Given the description of an element on the screen output the (x, y) to click on. 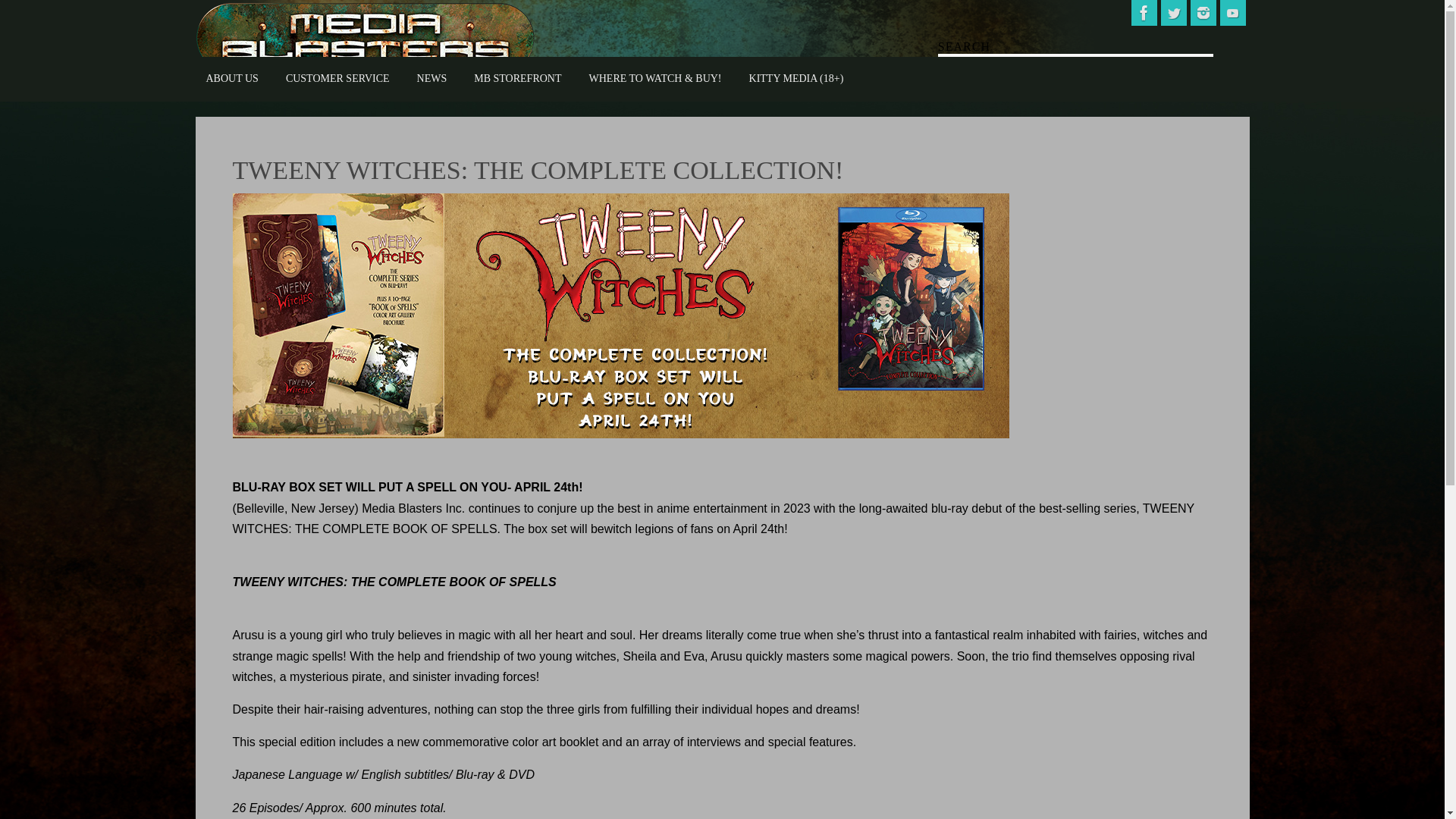
CUSTOMER SERVICE (337, 78)
NEWS (432, 78)
Media Blasters (365, 38)
MB STOREFRONT (517, 78)
Instagram (1203, 12)
Twitter (1173, 12)
ABOUT US (232, 78)
Facebook (1144, 12)
YouTube (1232, 12)
